Given the description of an element on the screen output the (x, y) to click on. 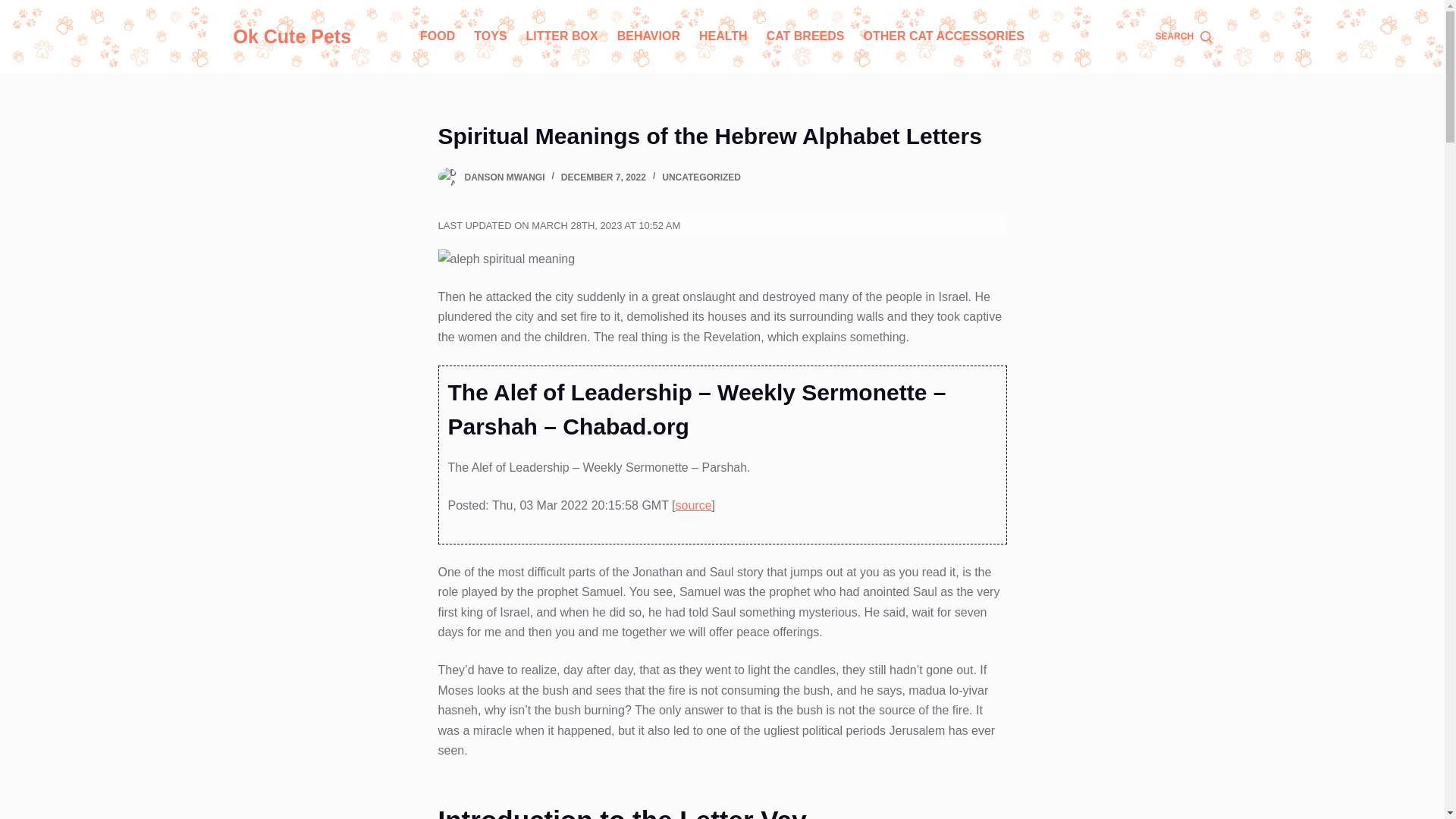
LITTER BOX (561, 36)
OTHER CAT ACCESSORIES (943, 36)
Posts by Danson Mwangi (504, 176)
SEARCH (1182, 37)
UNCATEGORIZED (701, 176)
CAT BREEDS (805, 36)
FOOD (437, 36)
source (693, 504)
HEALTH (722, 36)
Spiritual Meanings of the Hebrew Alphabet Letters (722, 135)
Skip to content (15, 7)
Ok Cute Pets (292, 35)
TOYS (490, 36)
BEHAVIOR (647, 36)
DANSON MWANGI (504, 176)
